Given the description of an element on the screen output the (x, y) to click on. 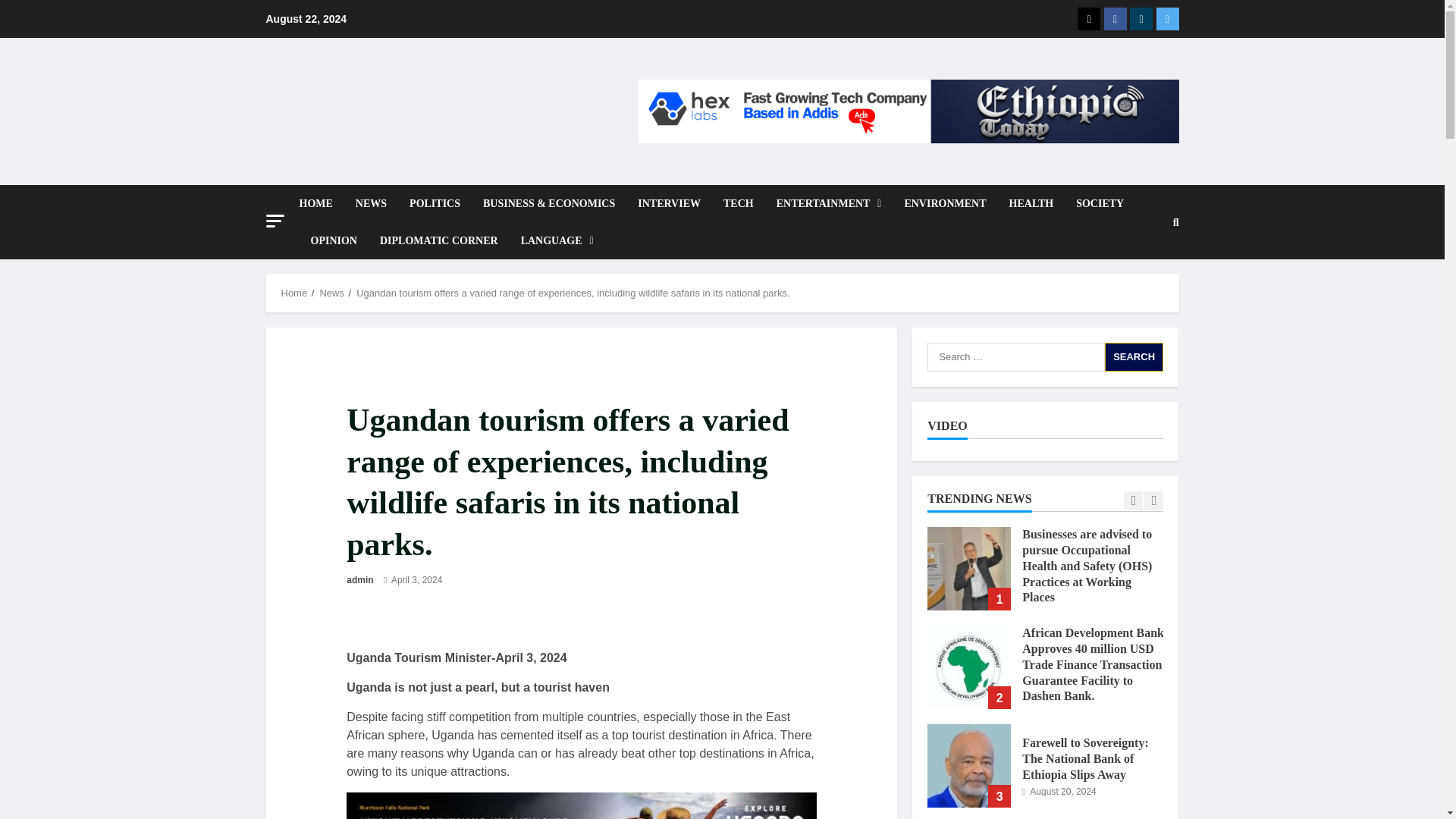
HOME (320, 203)
Search (1134, 357)
Search (1139, 299)
ENTERTAINMENT (829, 203)
LANGUAGE (551, 240)
SOCIETY (1099, 203)
POLITICS (434, 203)
OPINION (333, 240)
DIPLOMATIC CORNER (438, 240)
TECH (738, 203)
